Given the description of an element on the screen output the (x, y) to click on. 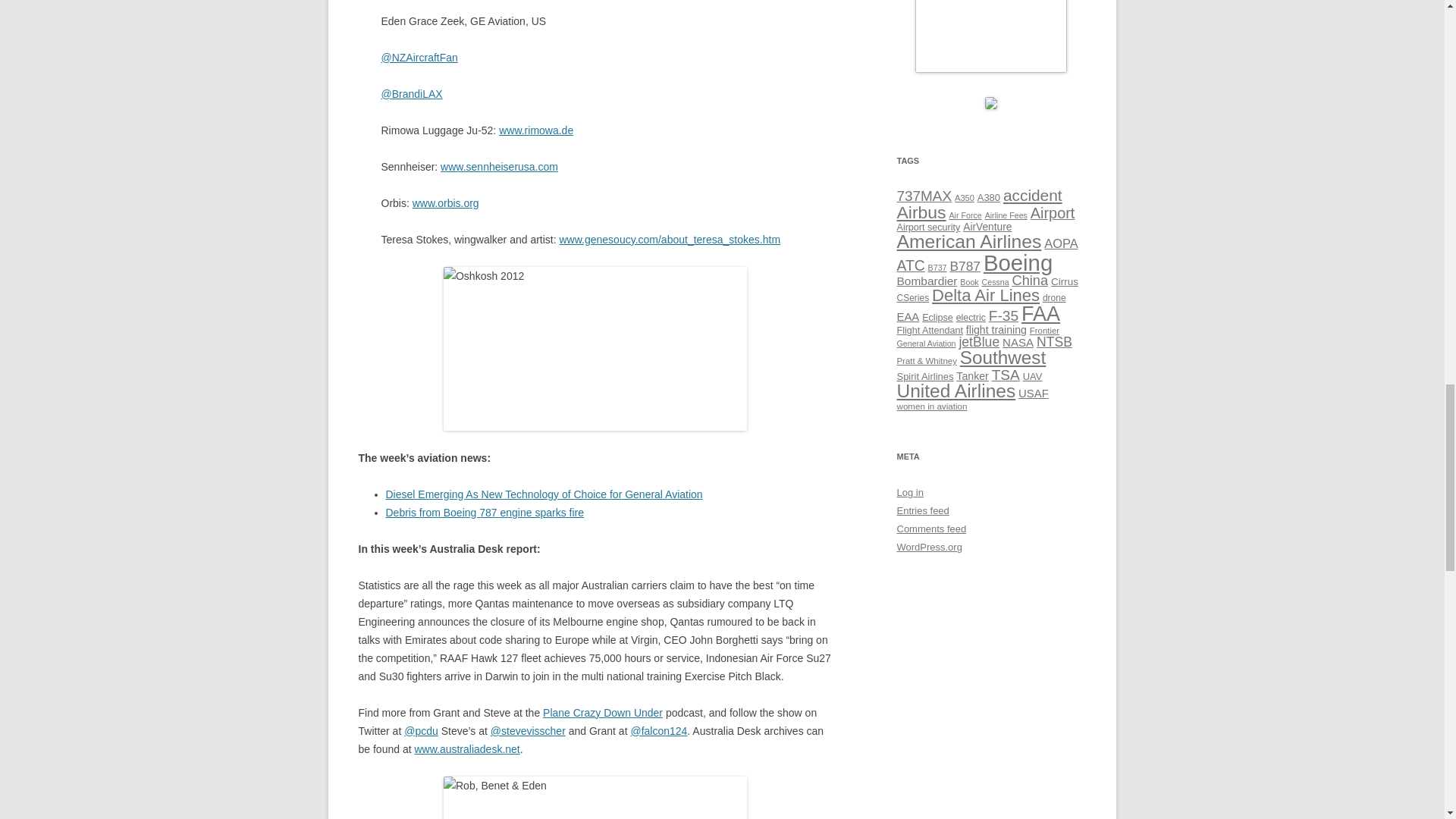
Debris from Boeing 787 engine sparks fire (484, 512)
www.sennheiserusa.com (499, 166)
Oshkosh 2012 (595, 348)
www.orbis.org (445, 203)
www.rimowa.de (536, 130)
Plane Crazy Down Under (602, 712)
